Given the description of an element on the screen output the (x, y) to click on. 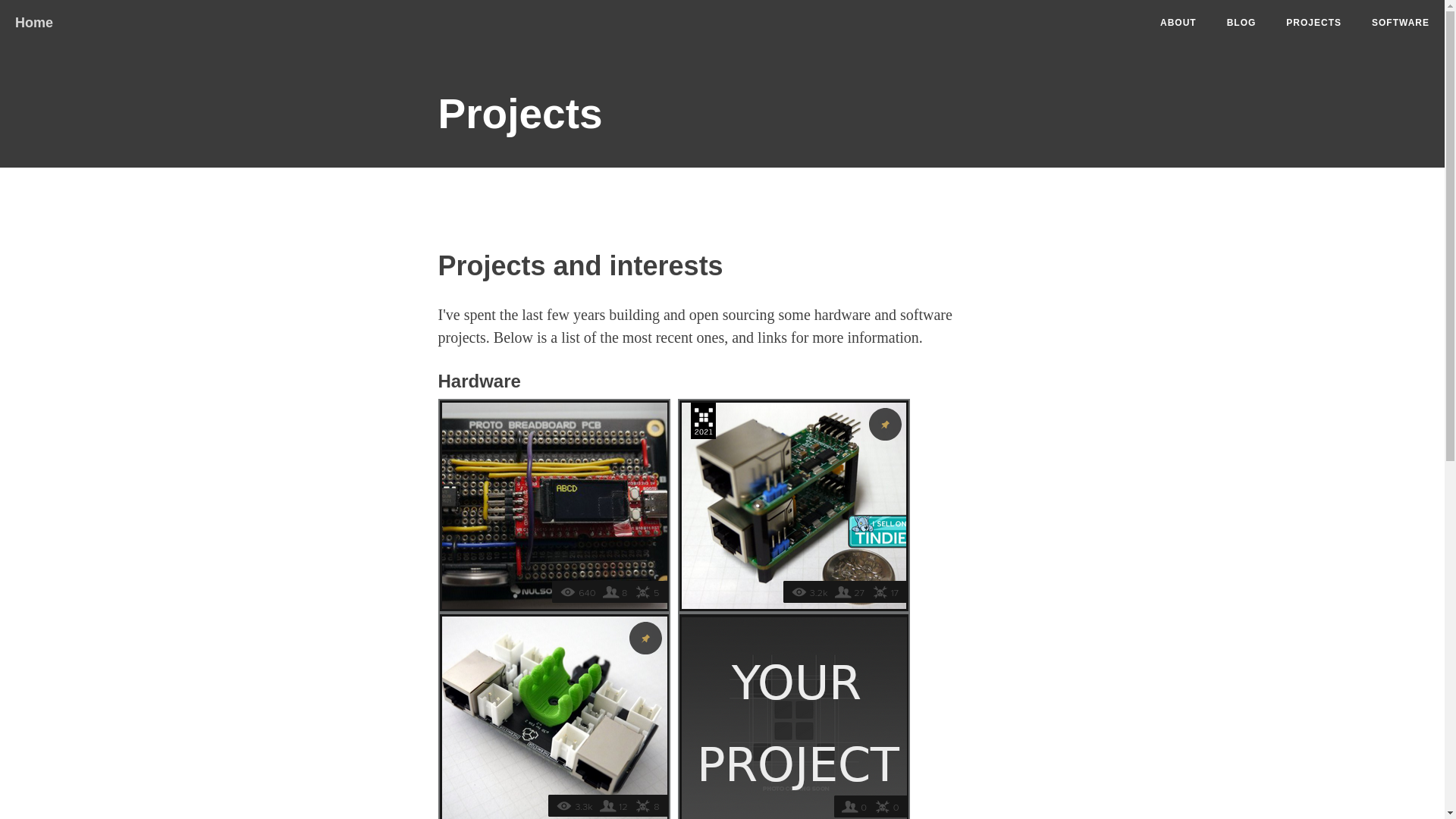
BLOG Element type: text (1241, 22)
Home Element type: text (34, 18)
10mbps over 1km on a single pair of wires Element type: hover (797, 503)
Tell me your idea and I'll build it for you (for a fee). Element type: hover (797, 717)
PROJECTS Element type: text (1313, 22)
SOFTWARE Element type: text (1400, 22)
ABOUT Element type: text (1178, 22)
Forth powered RISC-V microcontroller Element type: hover (557, 503)
